Given the description of an element on the screen output the (x, y) to click on. 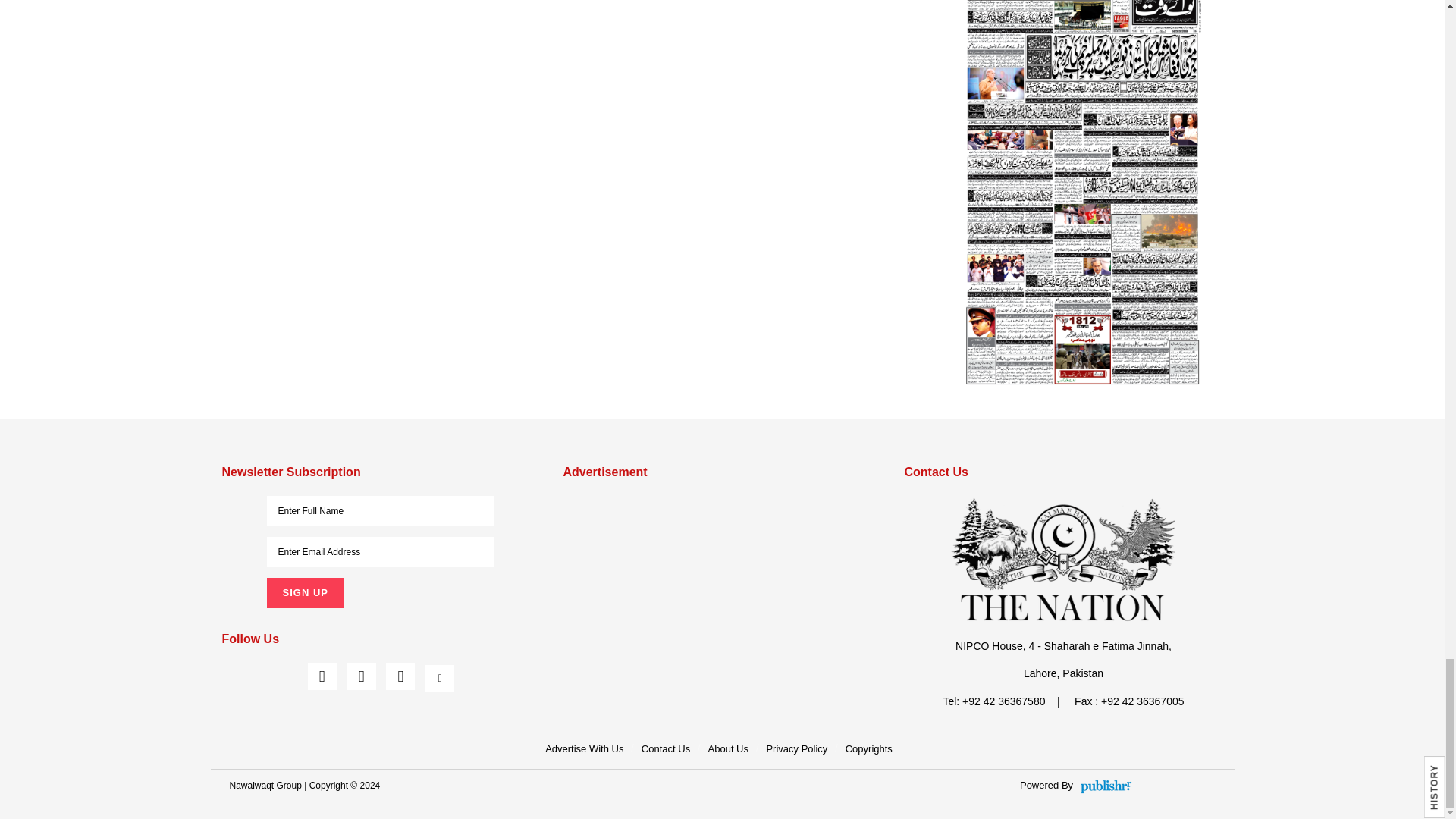
Sign up (304, 593)
